Given the description of an element on the screen output the (x, y) to click on. 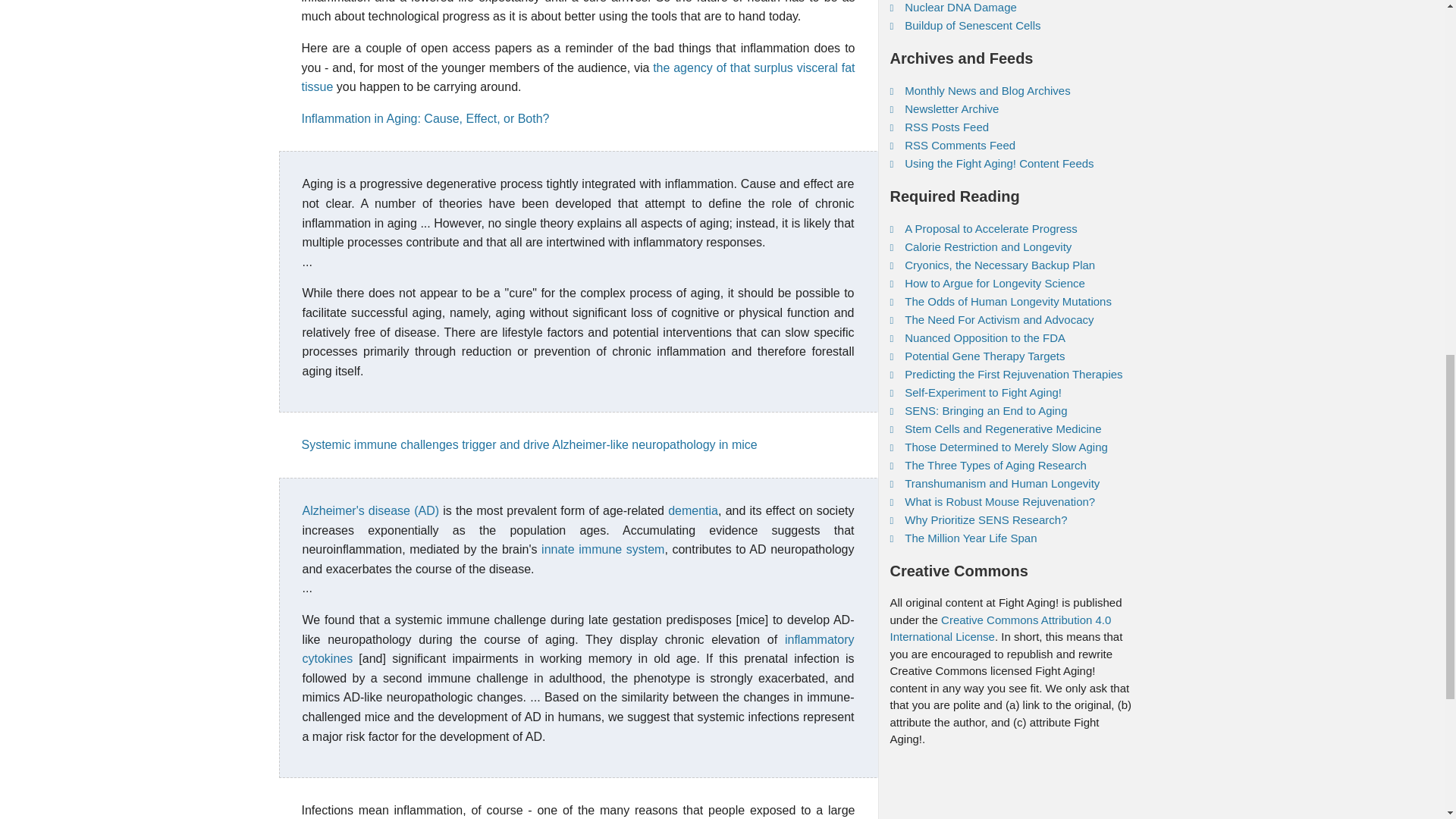
dementia (692, 510)
the agency of that surplus visceral fat tissue (578, 77)
Inflammation in Aging: Cause, Effect, or Both? (425, 118)
inflammatory cytokines (577, 649)
innate immune system (602, 549)
